Given the description of an element on the screen output the (x, y) to click on. 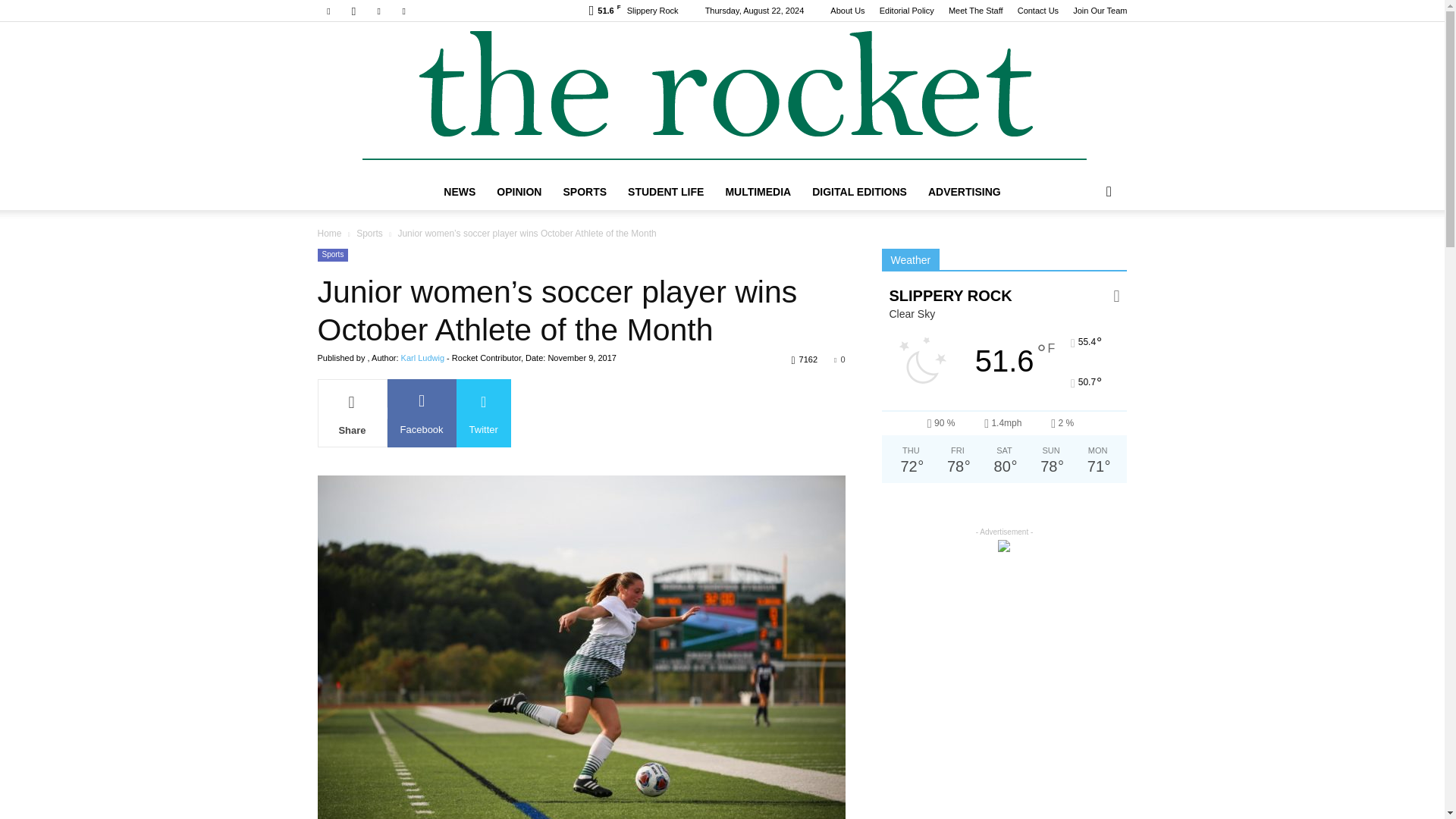
SPORTS (584, 191)
Facebook (328, 10)
ADVERTISING (964, 191)
About Us (846, 10)
View all posts in Sports (369, 233)
Twitter (379, 10)
MULTIMEDIA (758, 191)
Meet The Staff (976, 10)
Sports (332, 254)
Editorial Policy (906, 10)
